Given the description of an element on the screen output the (x, y) to click on. 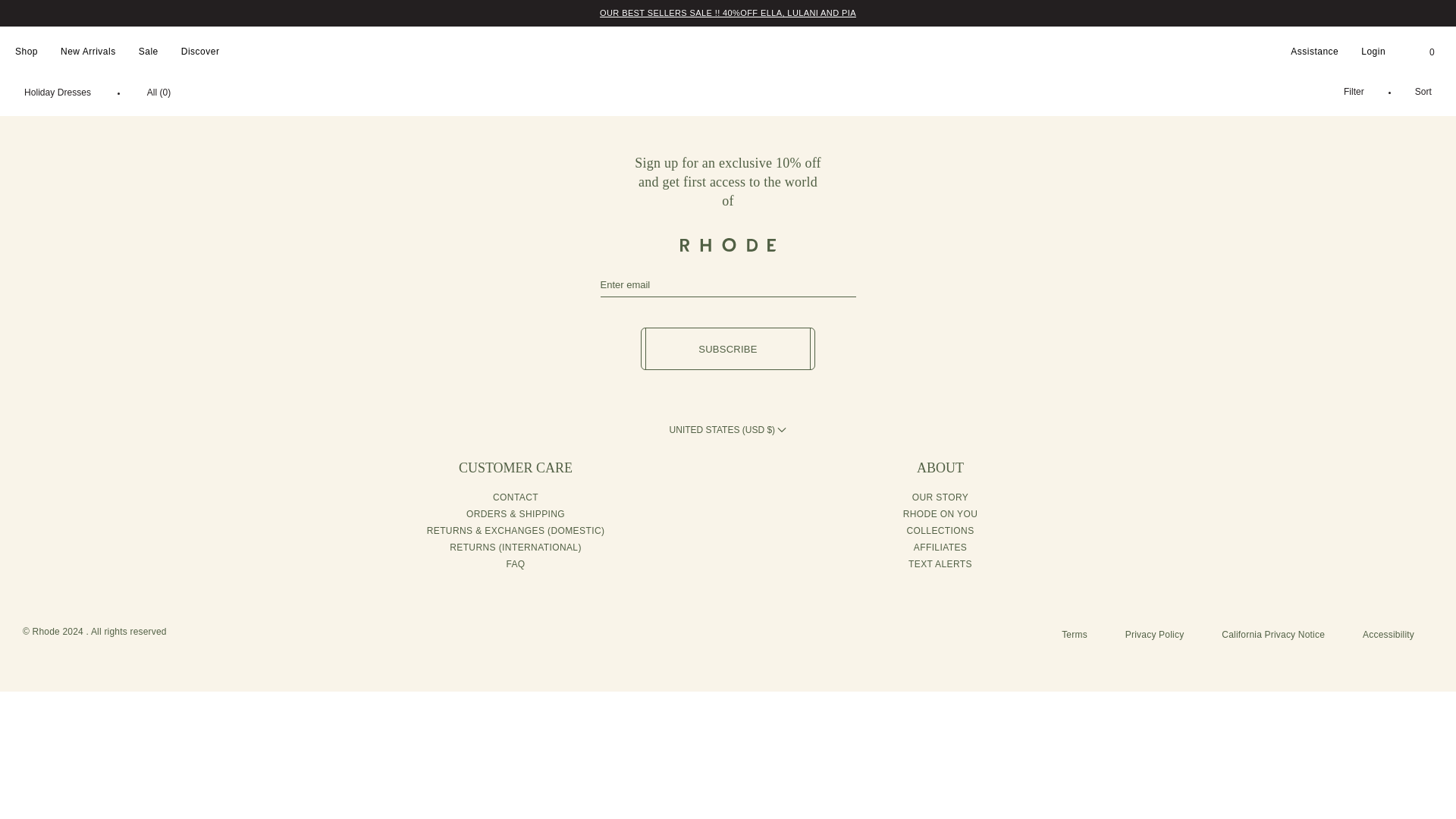
New Arrivals (88, 51)
THE ICONS SALE (727, 12)
Shop (26, 51)
Close promo bar (1438, 13)
Discover (200, 51)
